Given the description of an element on the screen output the (x, y) to click on. 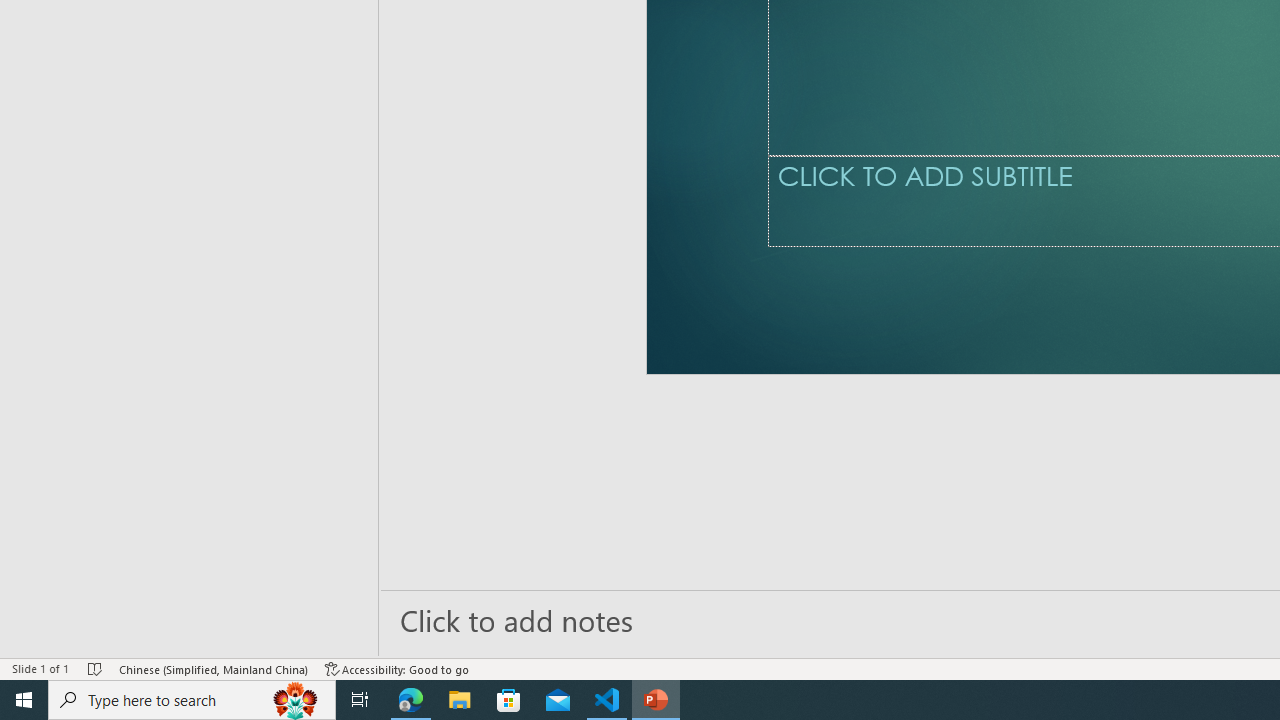
Accessibility Checker Accessibility: Good to go (397, 668)
